Given the description of an element on the screen output the (x, y) to click on. 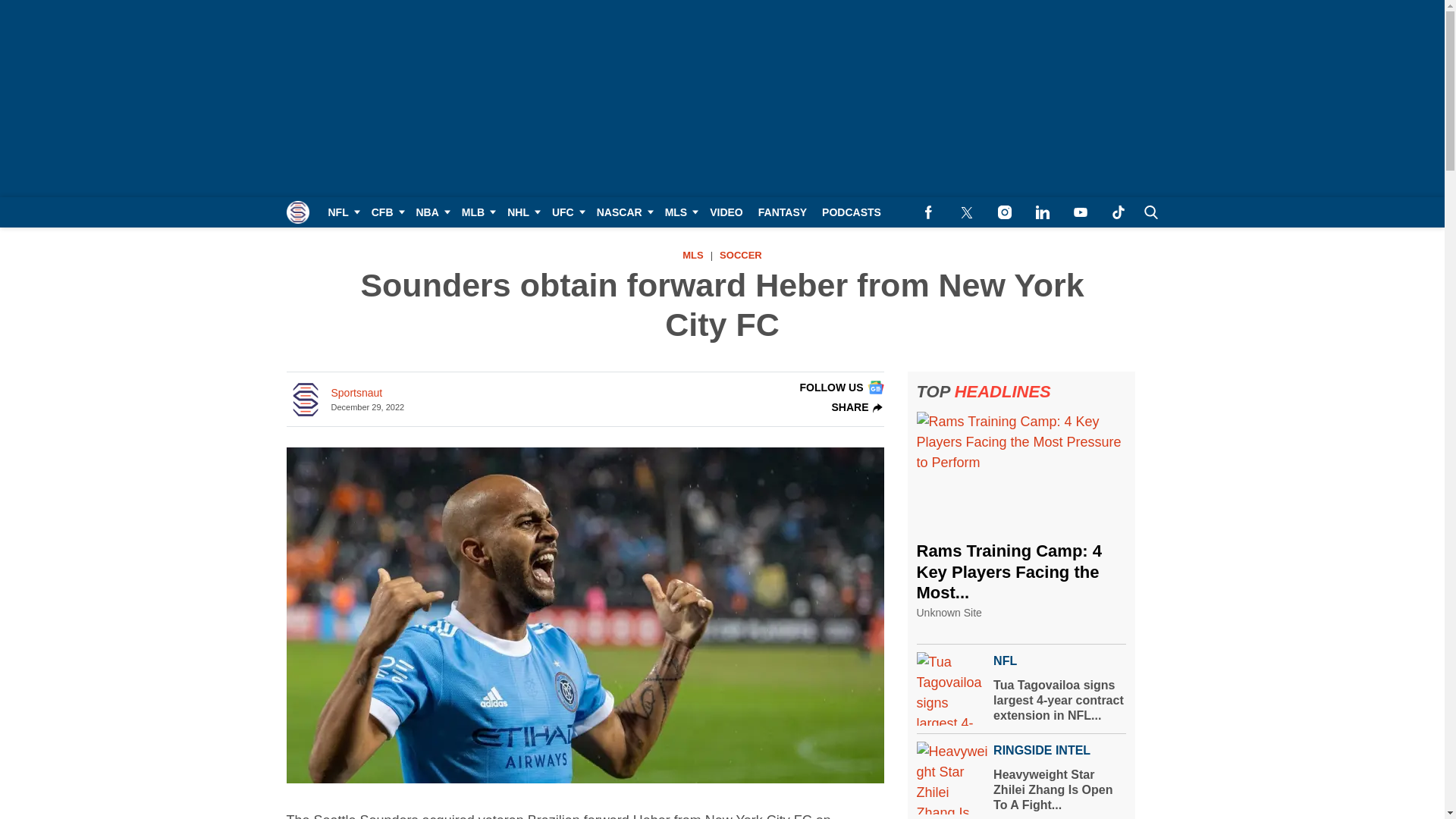
MLB (476, 212)
CFB (386, 212)
NBA (429, 212)
Follow us on Instagram (1004, 212)
Subscribe to our YouTube channel (1080, 212)
Follow us on Twitter (966, 212)
NHL (521, 212)
Connect with us on LinkedIn (1042, 212)
Posts by Sportsnaut (355, 392)
UFC (566, 212)
Subscribe to our TikTok channel (1118, 212)
Follow us on Facebook (928, 212)
NFL (341, 212)
